Given the description of an element on the screen output the (x, y) to click on. 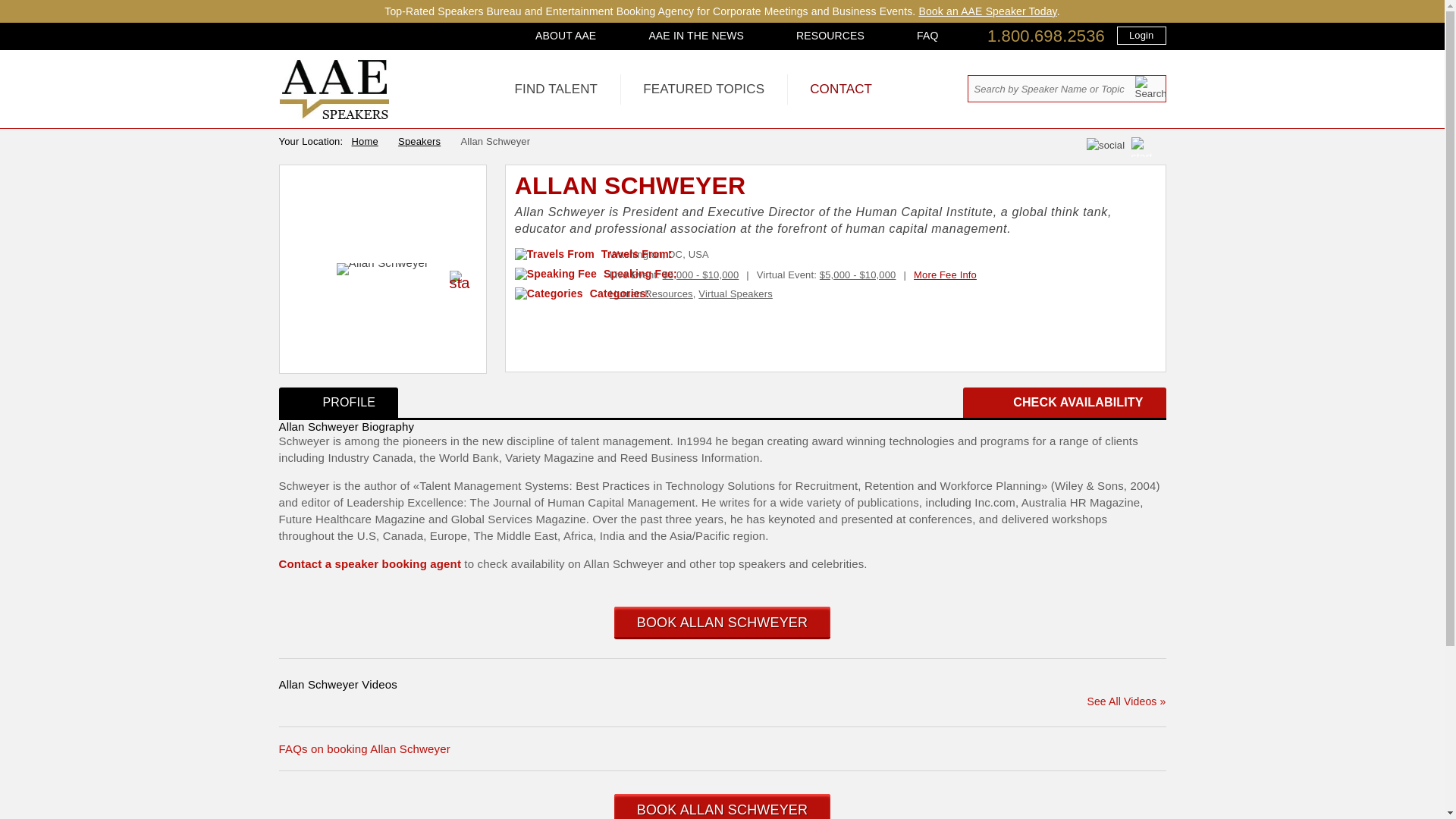
Book an AAE Speaker Today (987, 10)
ABOUT AAE (565, 34)
All American Speakers Bureau and Celebrity Booking Agency (334, 115)
Search (1150, 87)
1.800.698.2536 (1046, 35)
RESOURCES (829, 34)
FAQ (927, 34)
AAE IN THE NEWS (695, 34)
Login (1141, 35)
